Given the description of an element on the screen output the (x, y) to click on. 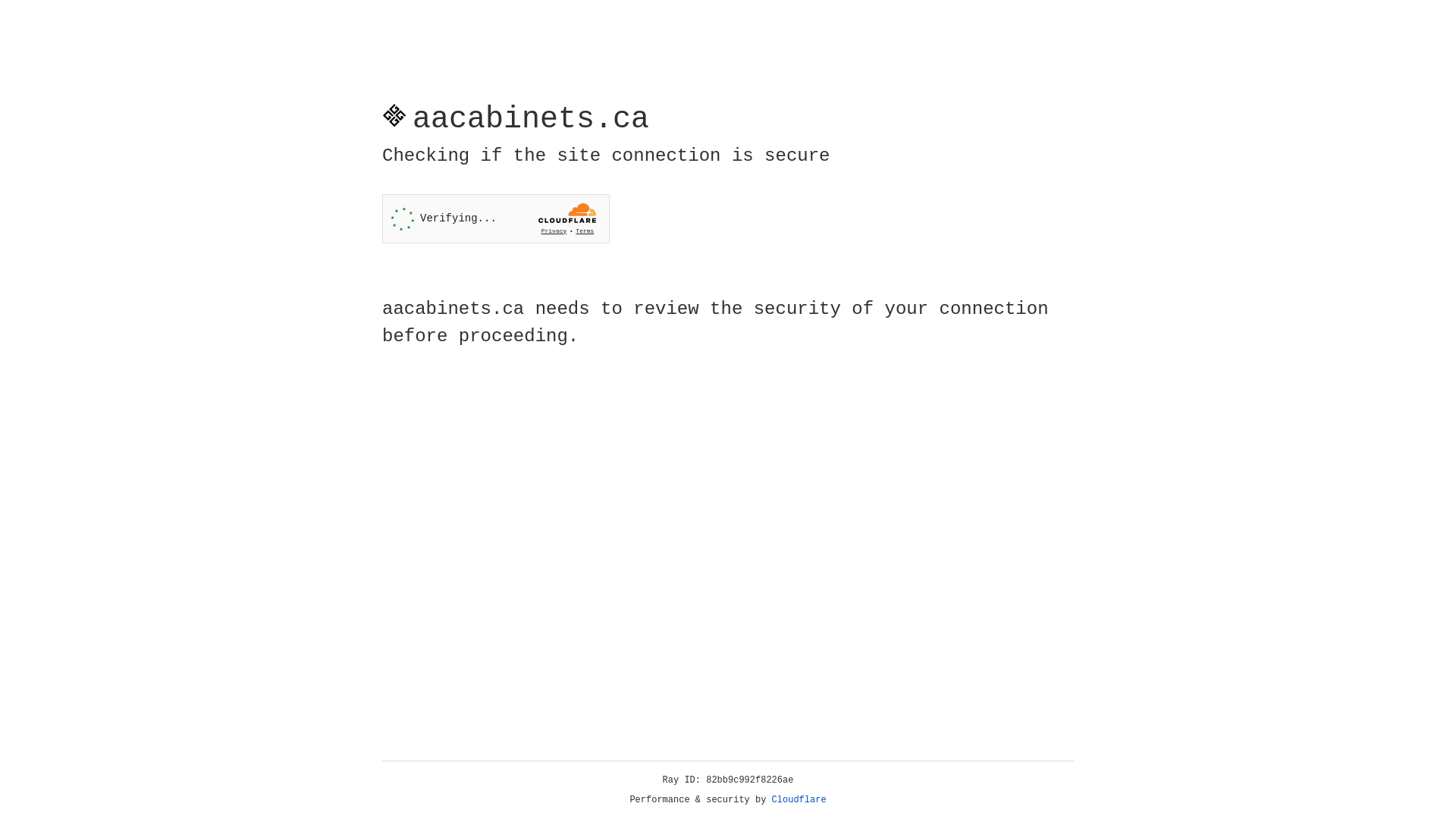
Widget containing a Cloudflare security challenge Element type: hover (495, 218)
Cloudflare Element type: text (798, 799)
